Given the description of an element on the screen output the (x, y) to click on. 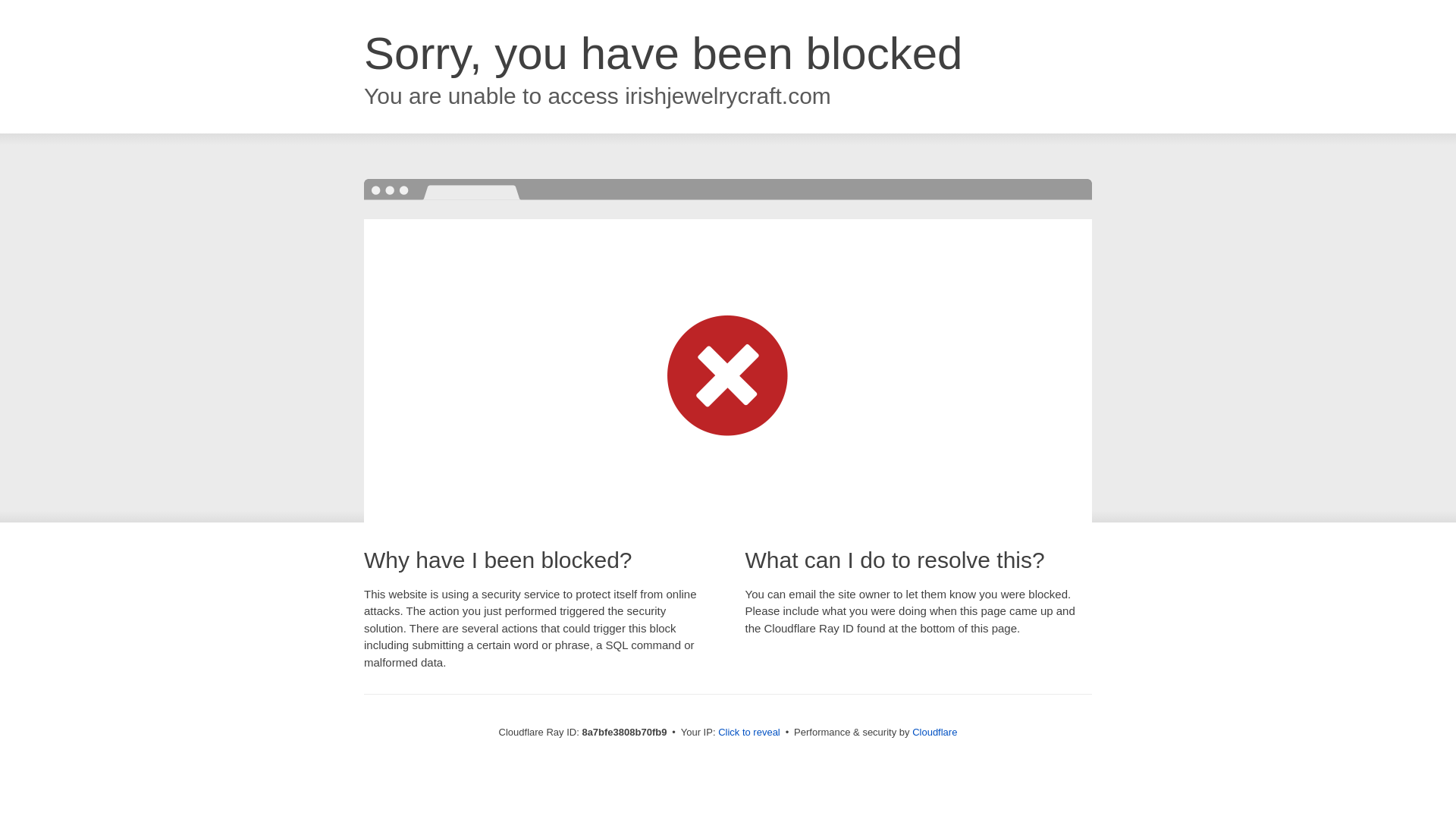
Click to reveal (748, 732)
Cloudflare (934, 731)
